Given the description of an element on the screen output the (x, y) to click on. 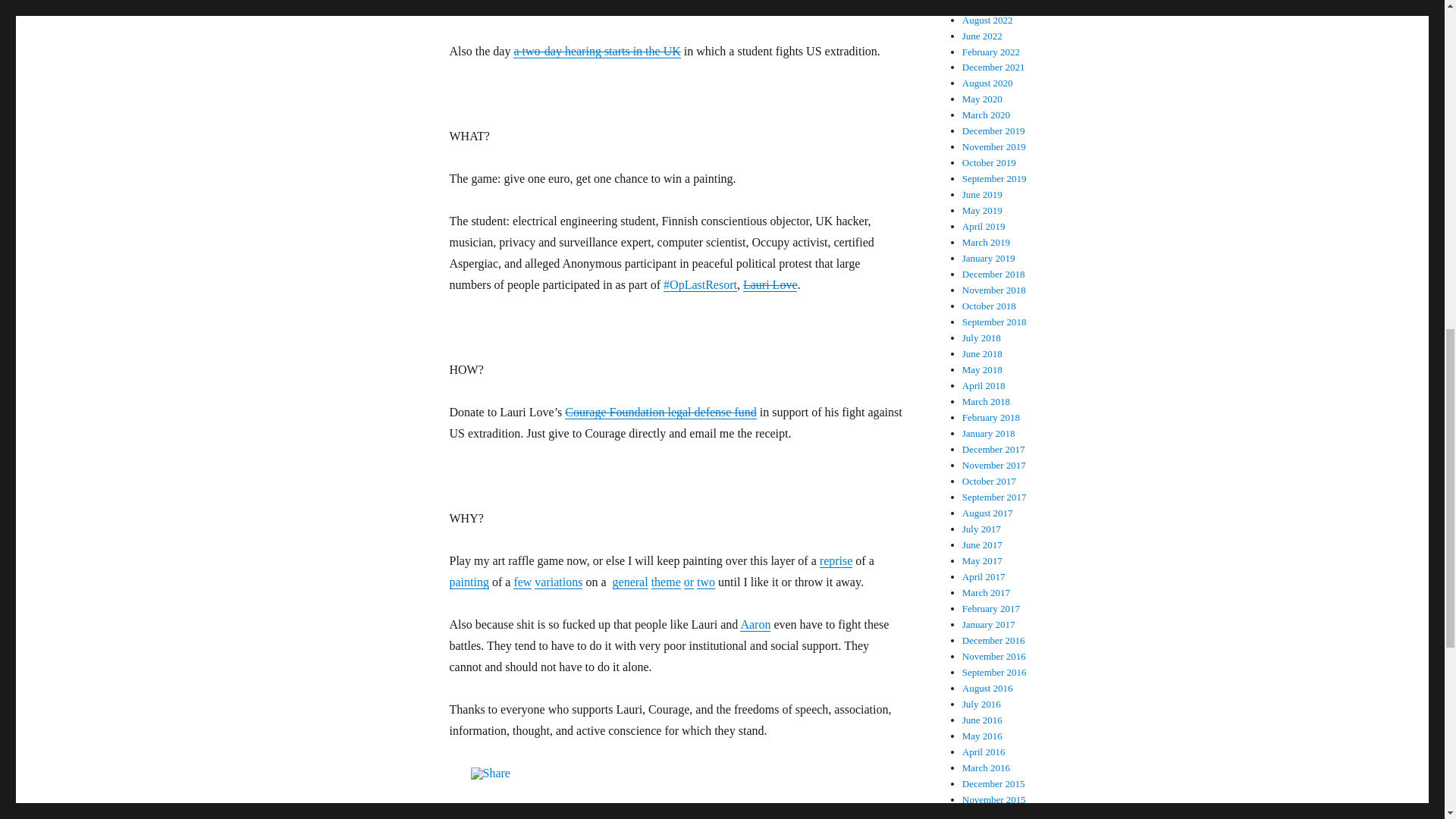
variations (558, 581)
Courage Foundation legal defense fund (659, 411)
two (705, 581)
reprise (836, 560)
few (522, 581)
Aaron (754, 624)
Lauri Love (769, 284)
a two-day hearing starts in the UK (596, 51)
theme (665, 581)
general (629, 581)
